Given the description of an element on the screen output the (x, y) to click on. 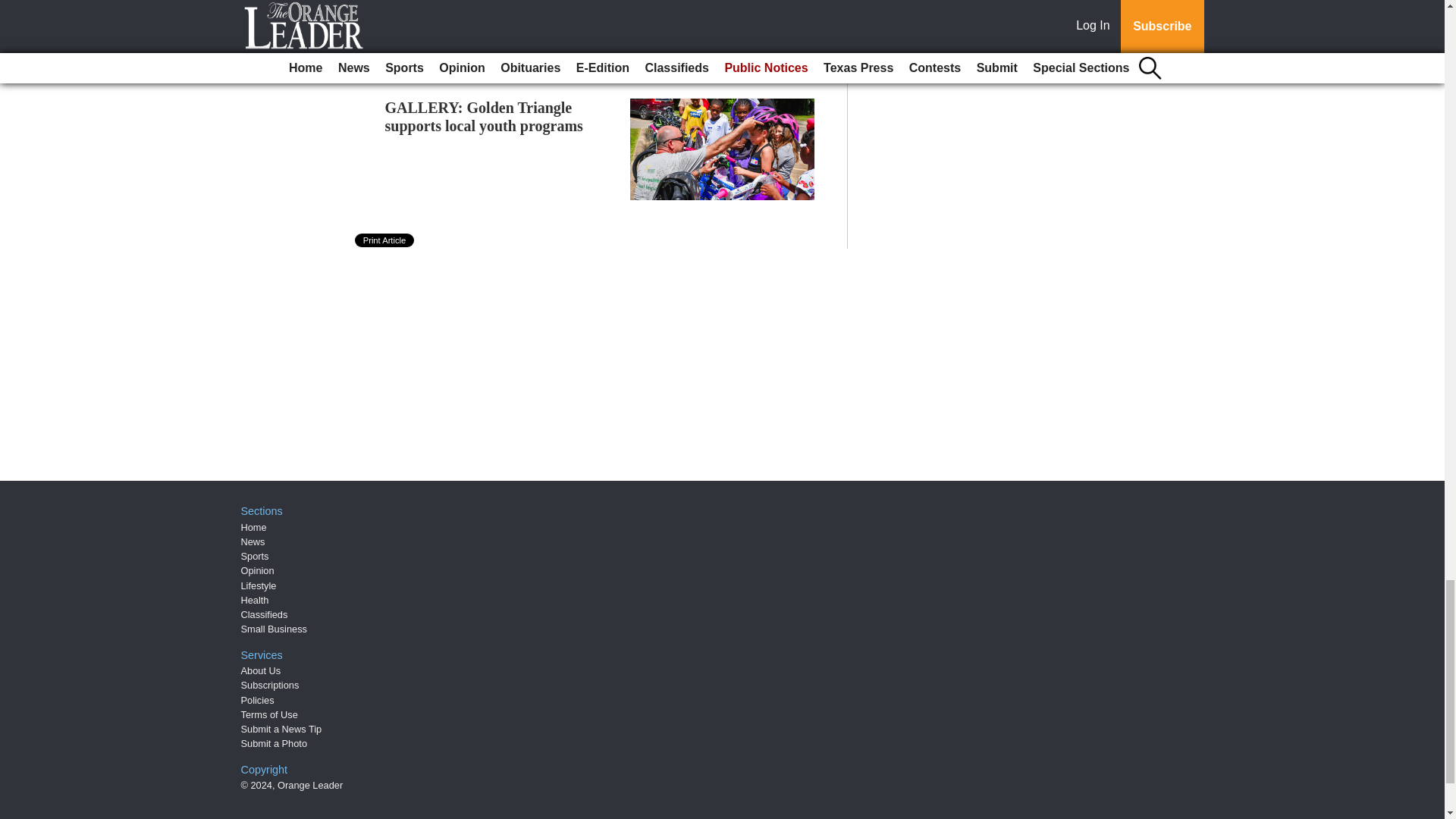
GALLERY: Golden Triangle supports local youth programs (484, 116)
News (252, 541)
Print Article (384, 240)
Sports (255, 555)
Home (253, 527)
GALLERY: Golden Triangle supports local youth programs (484, 116)
Opinion (258, 570)
